Given the description of an element on the screen output the (x, y) to click on. 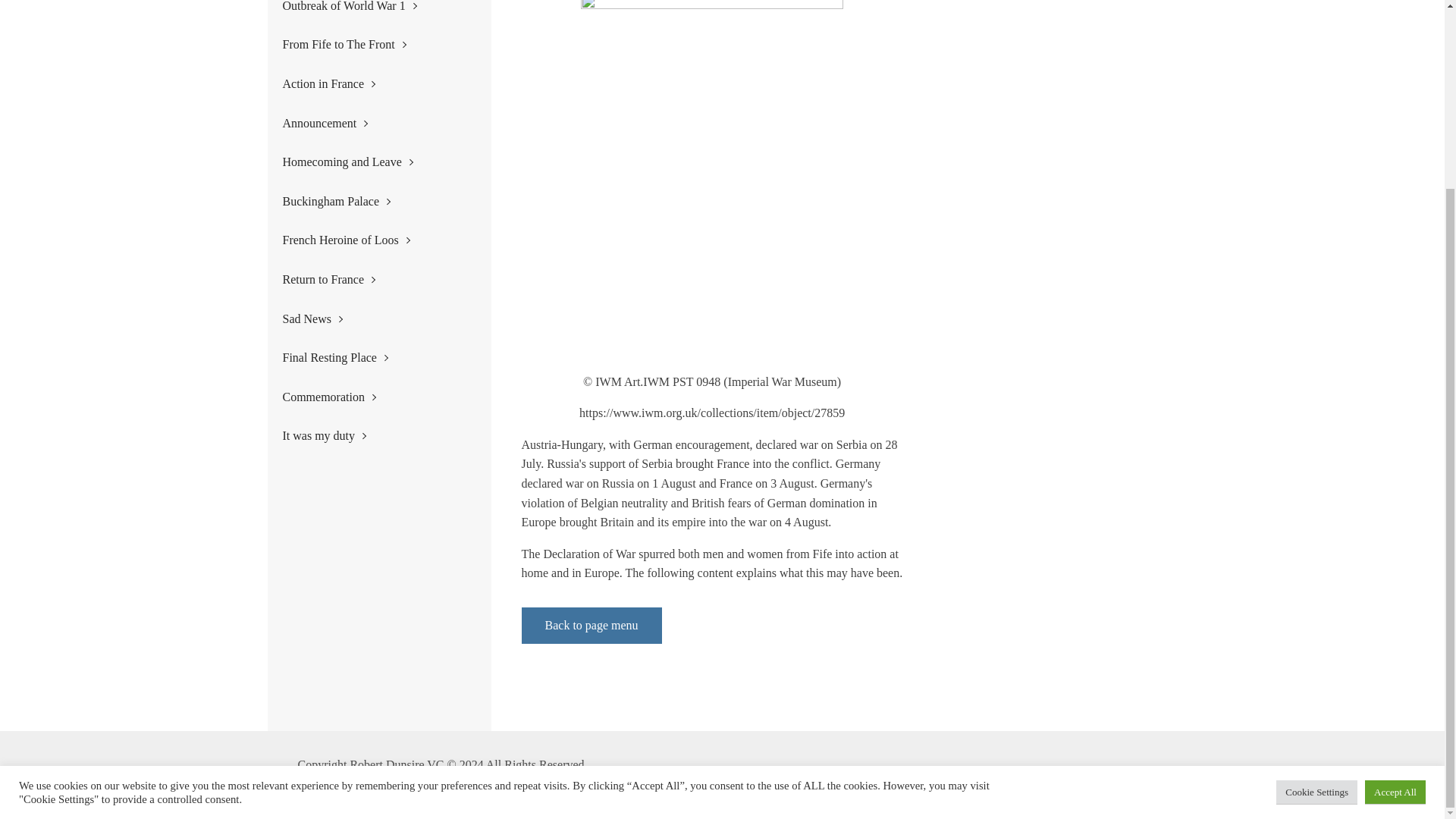
Action in France (348, 84)
Sad News (348, 319)
Final Resting Place (348, 357)
French Heroine of Loos (348, 240)
From Fife to The Front (348, 44)
Outbreak of World War 1 (348, 12)
Announcement (348, 123)
Homecoming and Leave (348, 161)
Buckingham Palace (348, 201)
Return to France (348, 279)
